Given the description of an element on the screen output the (x, y) to click on. 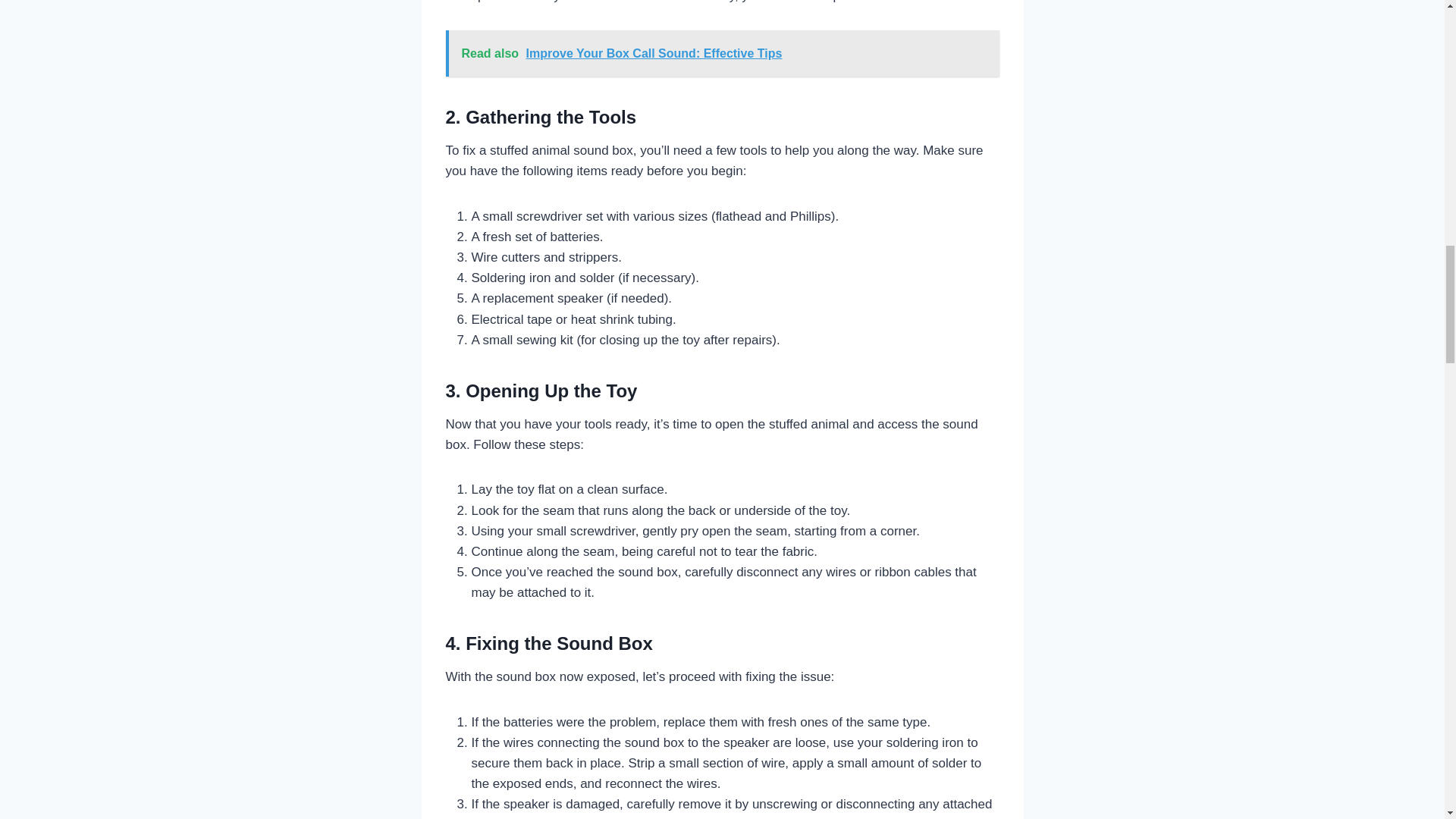
Read also  Improve Your Box Call Sound: Effective Tips (721, 53)
